Given the description of an element on the screen output the (x, y) to click on. 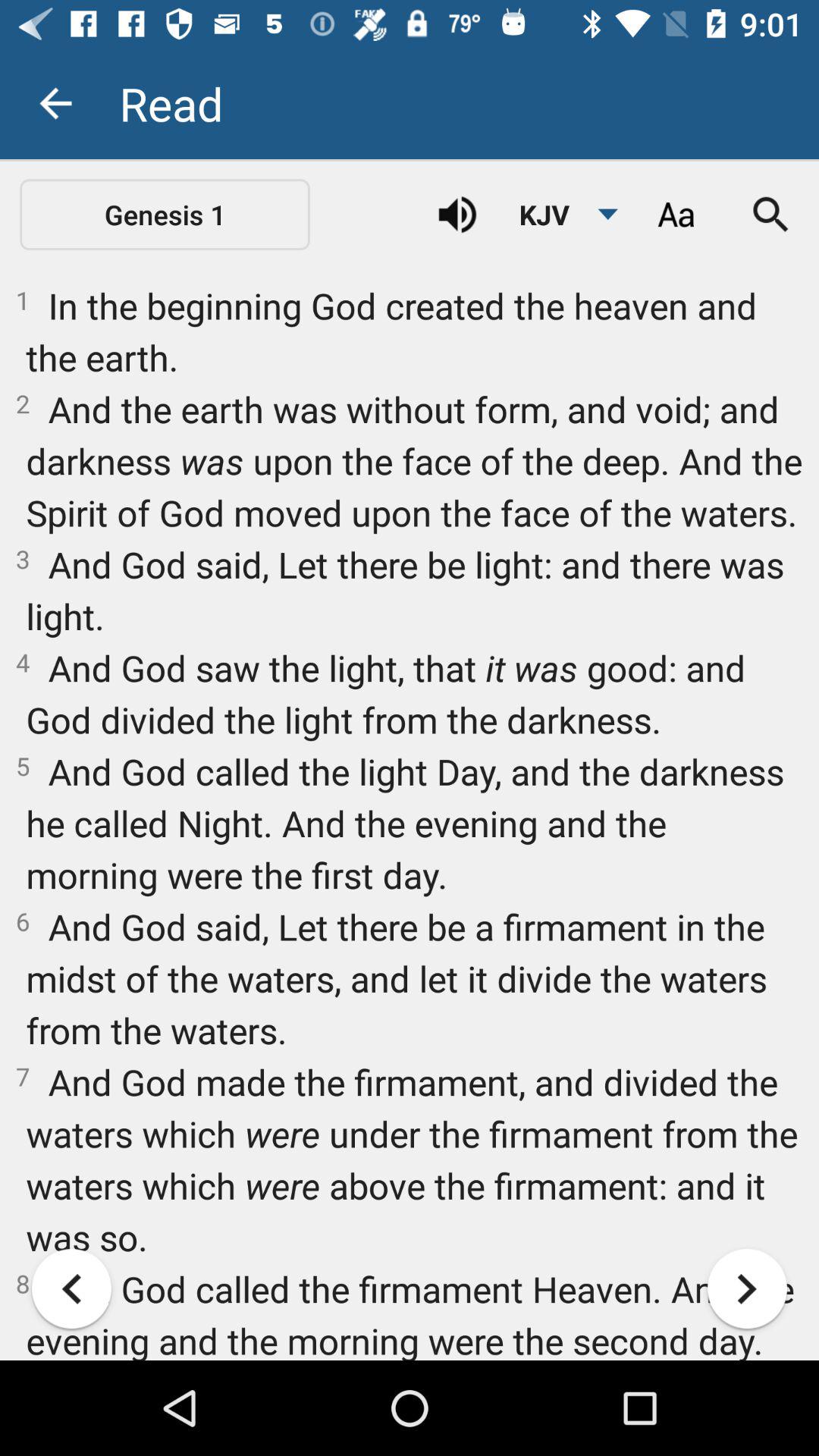
scroll until the kjv (559, 214)
